Given the description of an element on the screen output the (x, y) to click on. 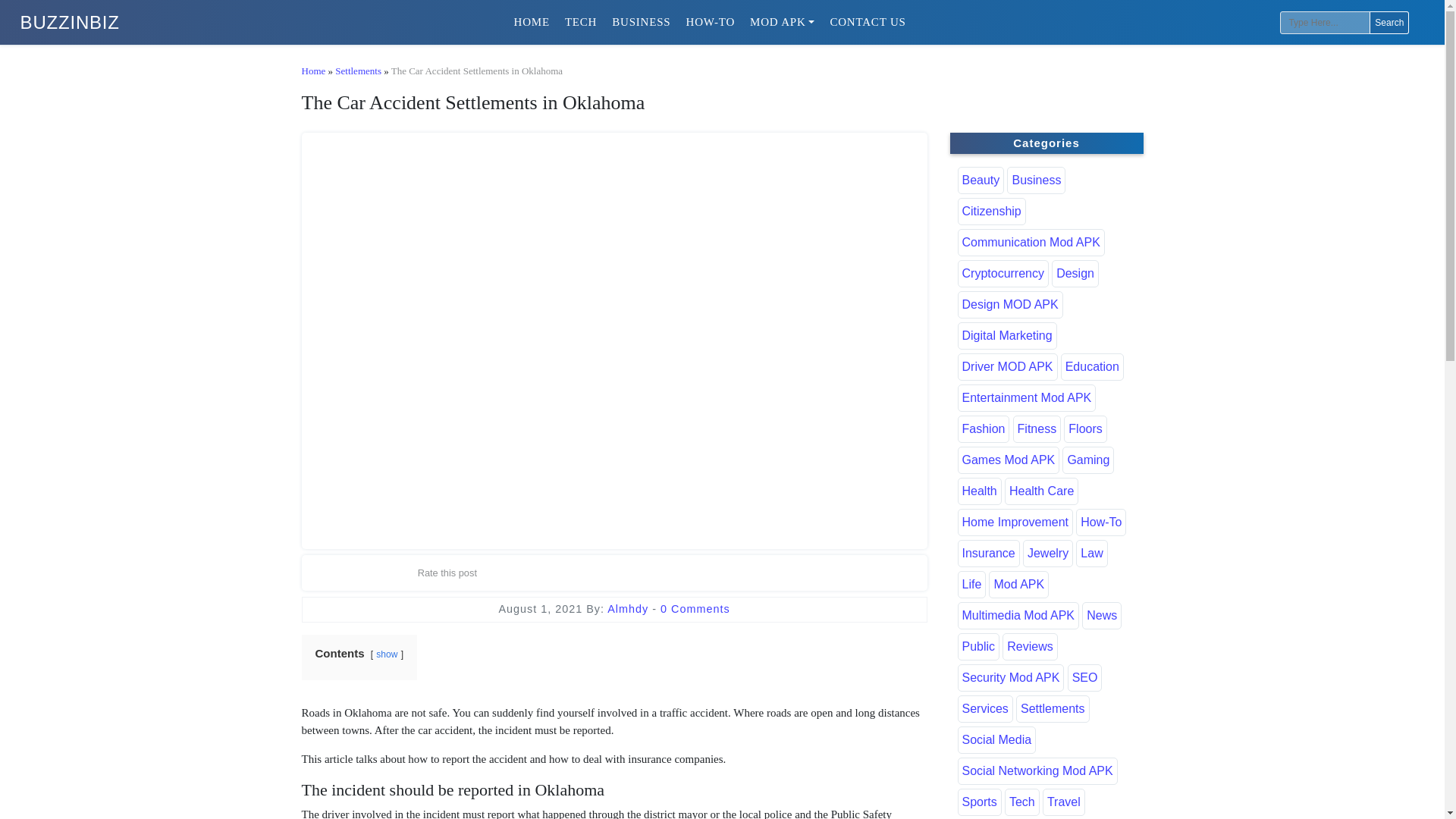
show (386, 654)
CONTACT US (867, 21)
Home (531, 21)
BUZZINBIZ (70, 22)
0 Comments (695, 608)
TECH (580, 21)
MOD APK (782, 21)
BUSINESS (641, 21)
HOW-TO (710, 21)
Mod APK (782, 21)
HOME (531, 21)
Almhdy (629, 608)
Settlements (357, 70)
Home (313, 70)
how-to (710, 21)
